Given the description of an element on the screen output the (x, y) to click on. 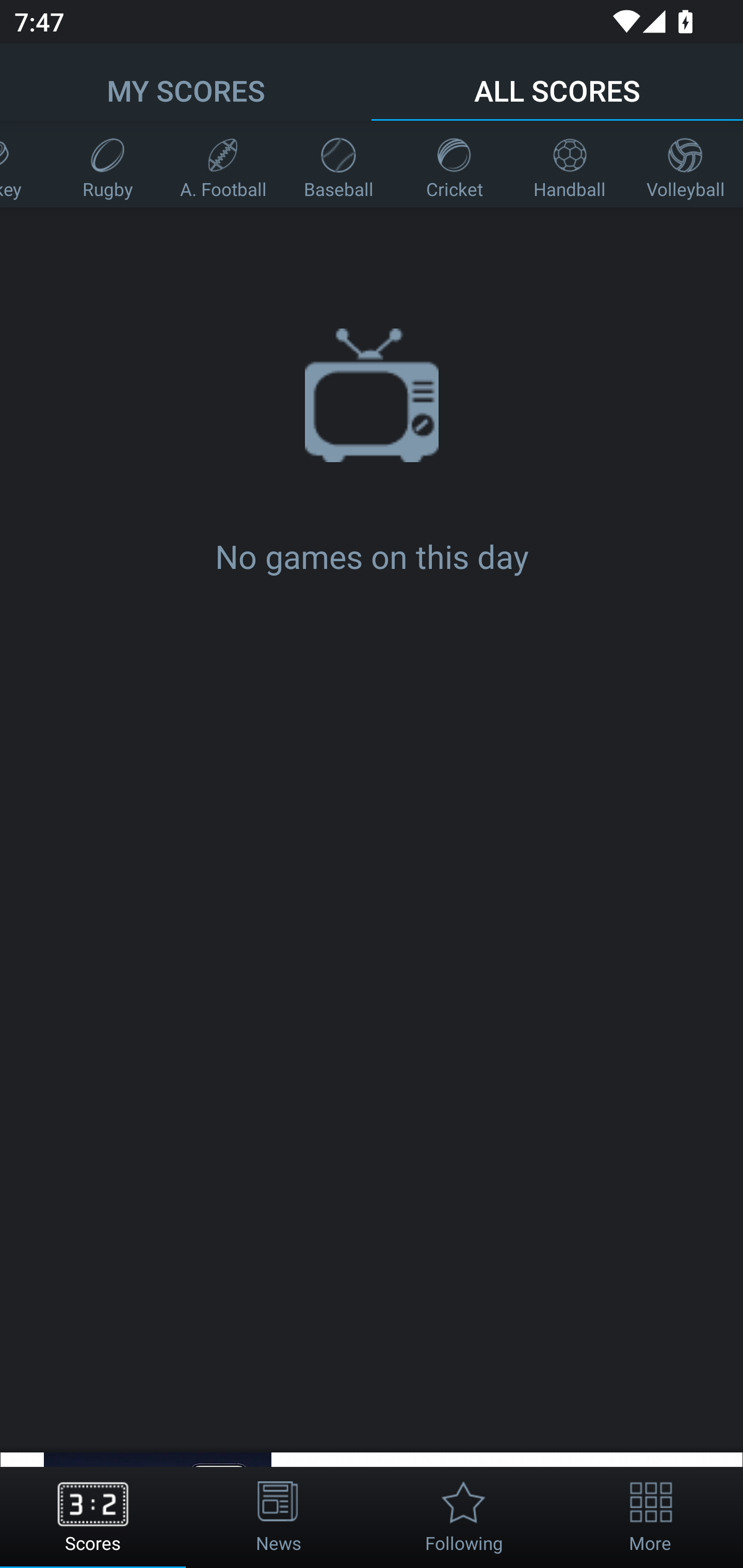
MY SCORES (185, 81)
ALL SCORES (557, 81)
Rugby (106, 163)
A. Football (222, 163)
Baseball (338, 163)
Cricket (453, 163)
Handball (569, 163)
Volleyball (685, 163)
News (278, 1517)
Following (464, 1517)
More (650, 1517)
